Given the description of an element on the screen output the (x, y) to click on. 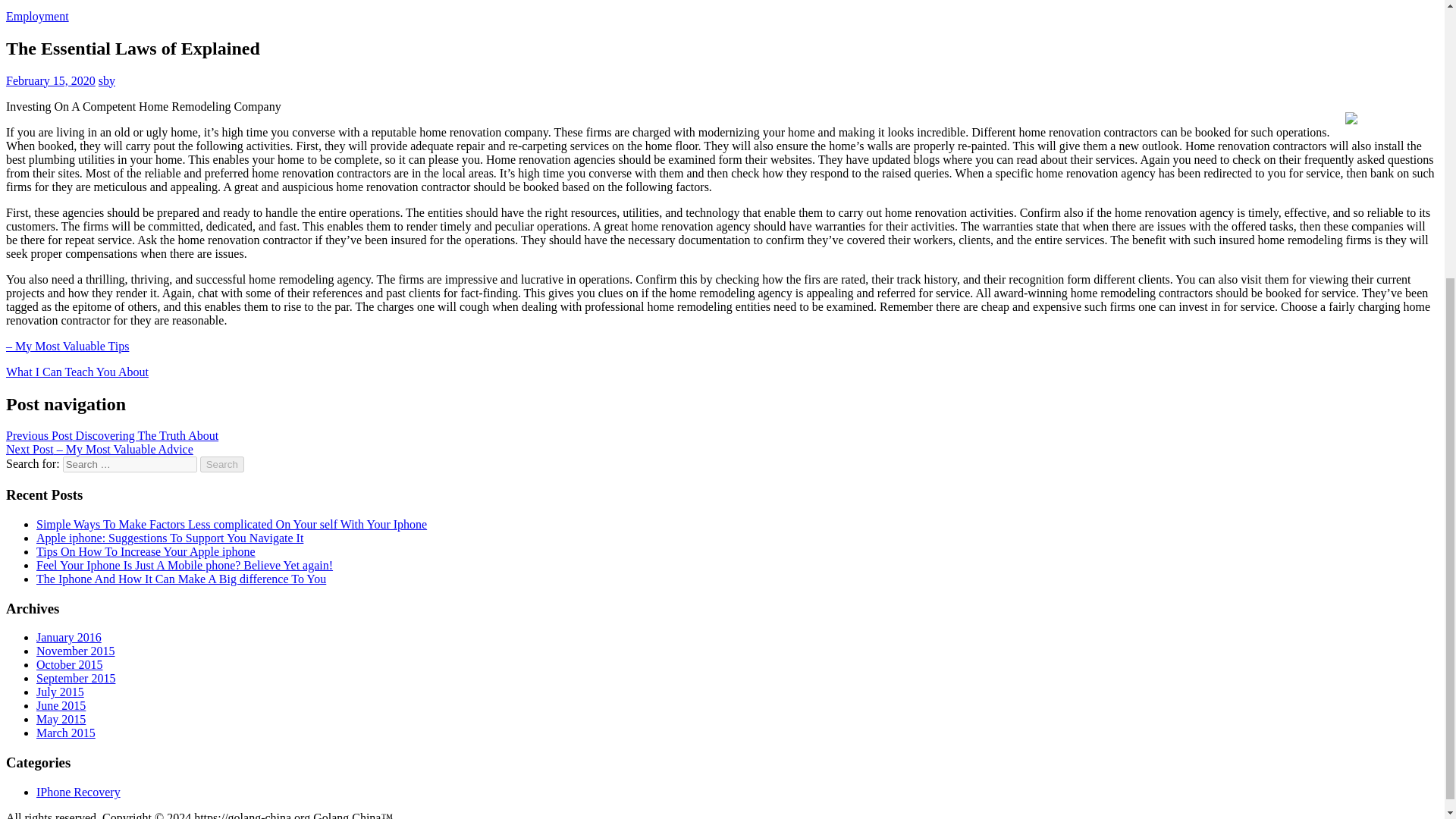
Search (222, 464)
November 2015 (75, 650)
July 2015 (60, 691)
June 2015 (60, 705)
October 2015 (69, 664)
Previous Post Discovering The Truth About (111, 435)
March 2015 (66, 732)
Apple iphone: Suggestions To Support You Navigate It (169, 537)
What I Can Teach You About (76, 371)
Feel Your Iphone Is Just A Mobile phone? Believe Yet again! (184, 564)
February 15, 2020 (50, 80)
September 2015 (75, 677)
Search (222, 464)
May 2015 (60, 718)
The Iphone And How It Can Make A Big difference To You (181, 578)
